Given the description of an element on the screen output the (x, y) to click on. 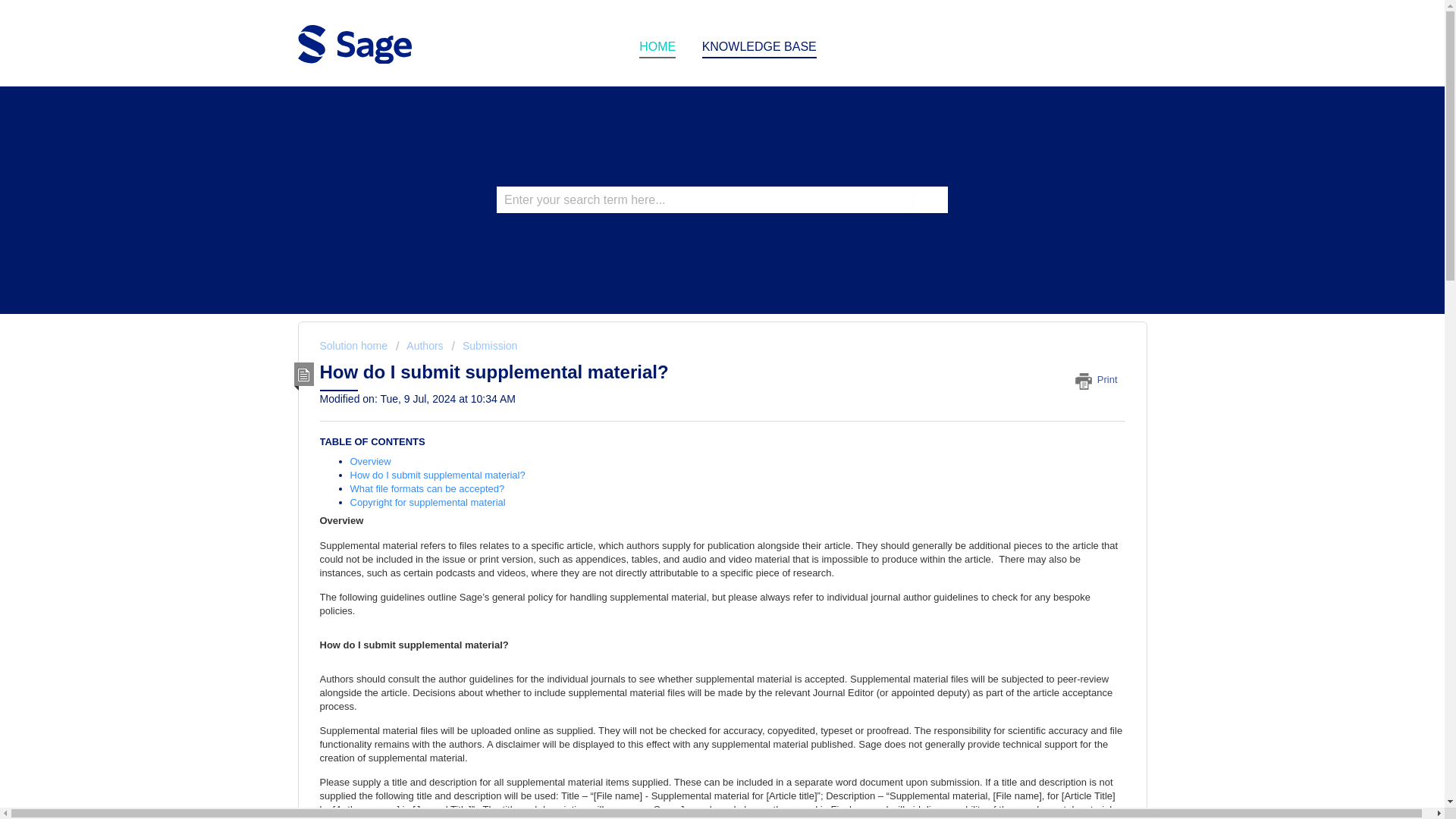
Overview  (372, 460)
Submission (484, 345)
Solution home (355, 345)
HOME (657, 47)
Copyright for supplemental material (427, 501)
What file formats can be accepted? (427, 488)
Print (1099, 379)
KNOWLEDGE BASE (758, 47)
Authors (420, 345)
Print this Article (1099, 379)
How do I submit supplemental material? (437, 474)
